Given the description of an element on the screen output the (x, y) to click on. 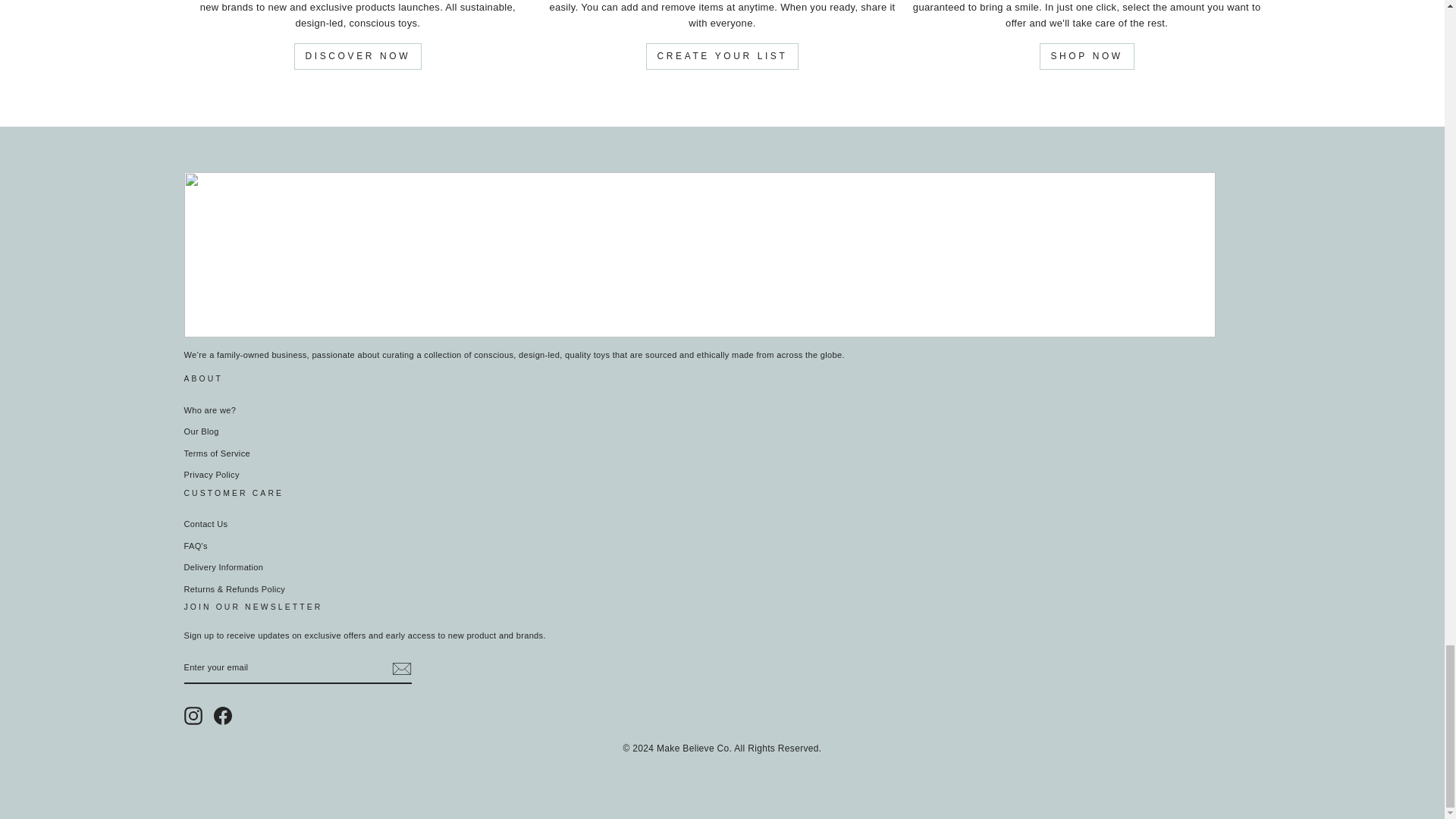
Make Believe Co. on Instagram (192, 715)
Make Believe Co. on Facebook (222, 715)
